Given the description of an element on the screen output the (x, y) to click on. 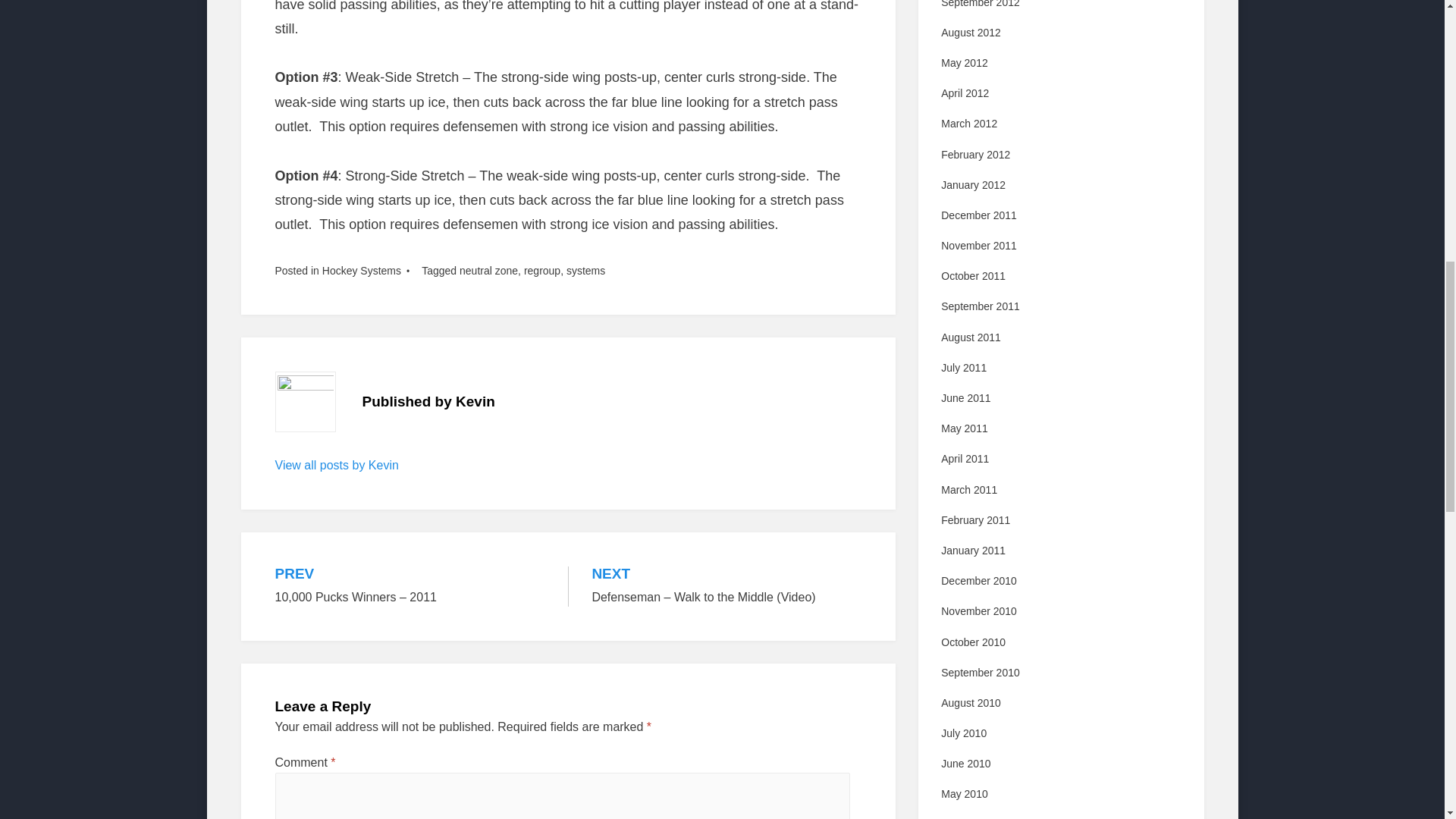
neutral zone (489, 270)
regroup (542, 270)
systems (585, 270)
View all posts by Kevin (336, 464)
Hockey Systems (361, 270)
